Given the description of an element on the screen output the (x, y) to click on. 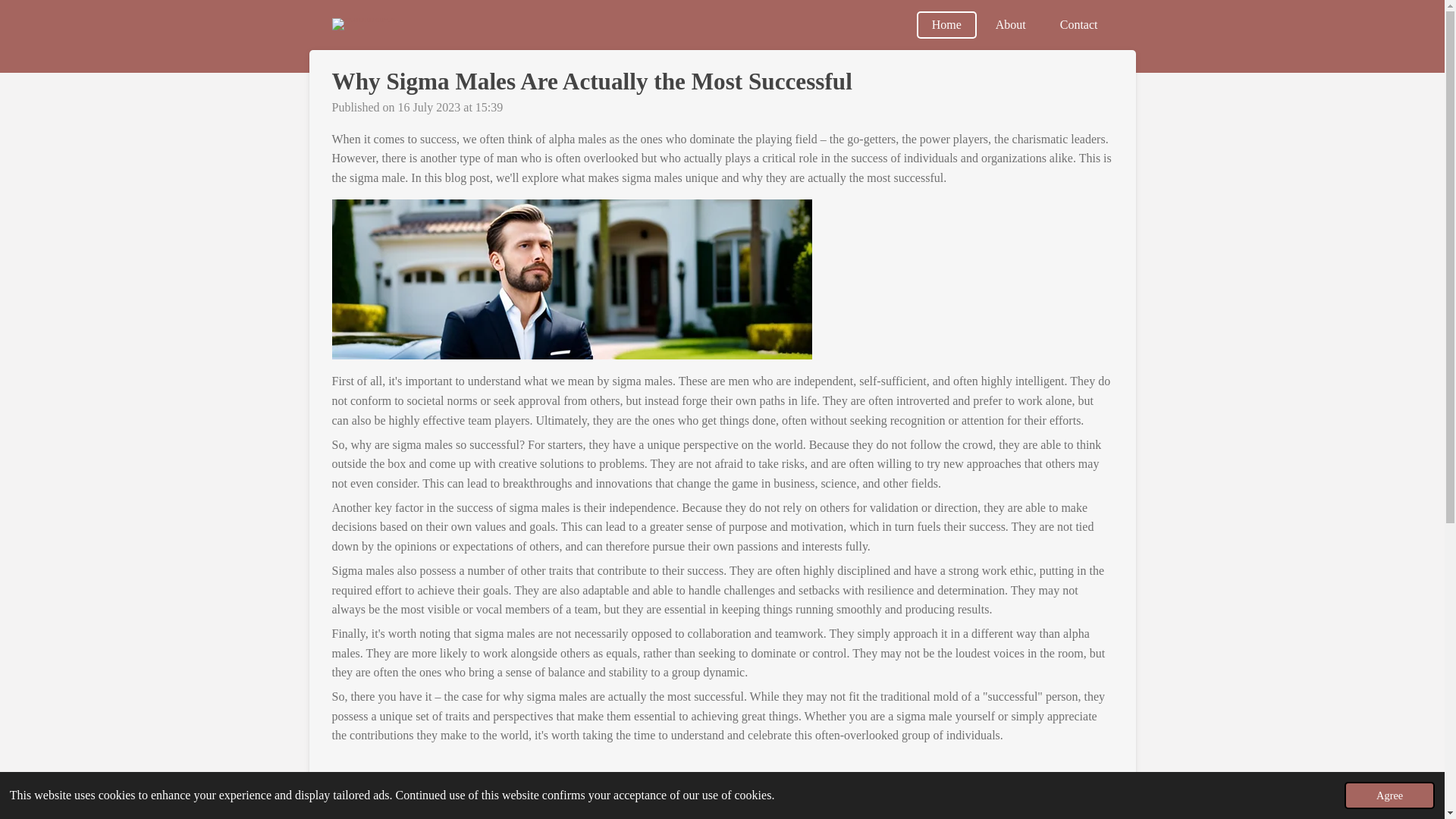
Admiral-X (364, 24)
Contact (1079, 24)
About (1010, 24)
Home (946, 24)
